Given the description of an element on the screen output the (x, y) to click on. 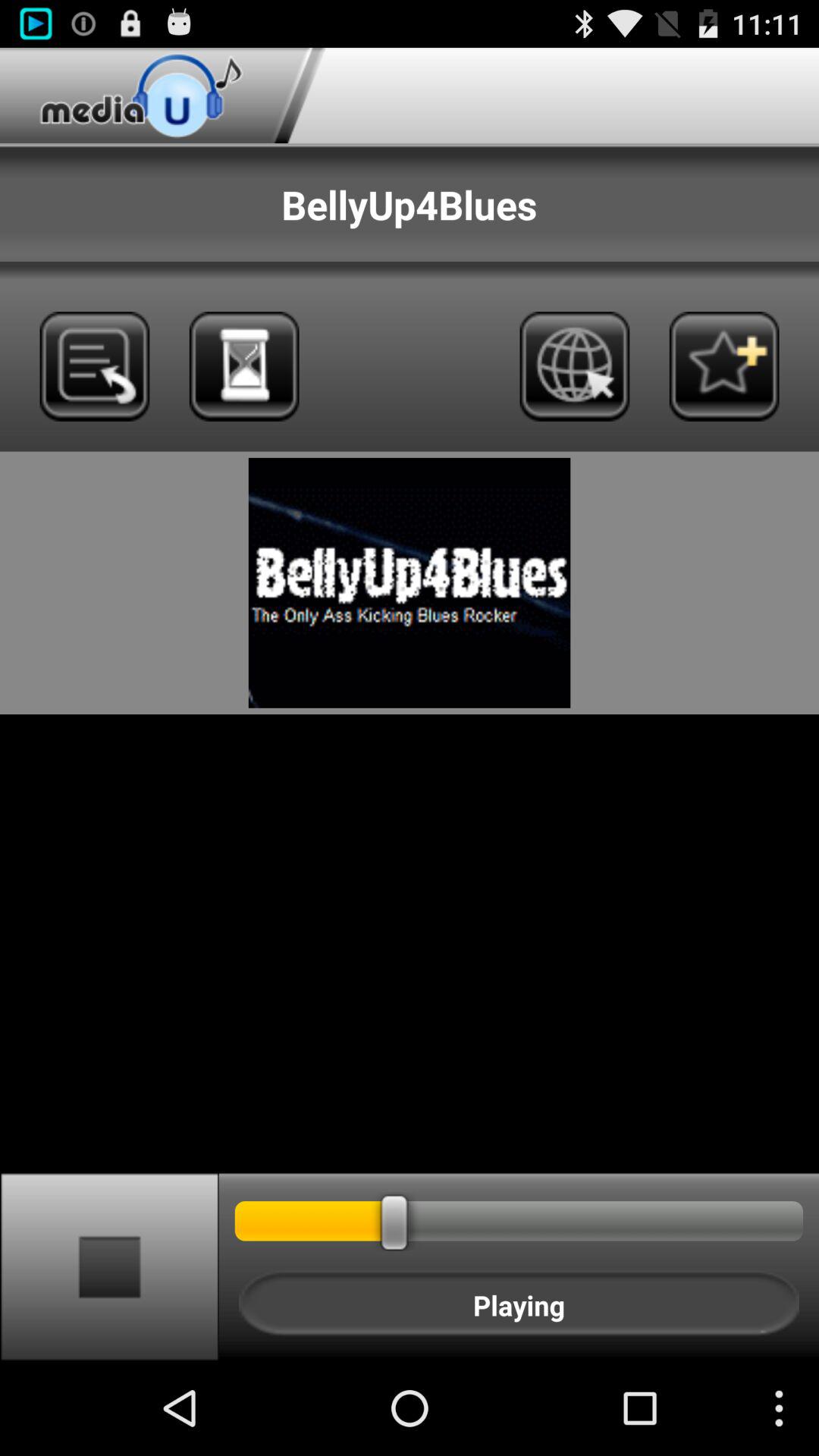
open website (574, 366)
